Given the description of an element on the screen output the (x, y) to click on. 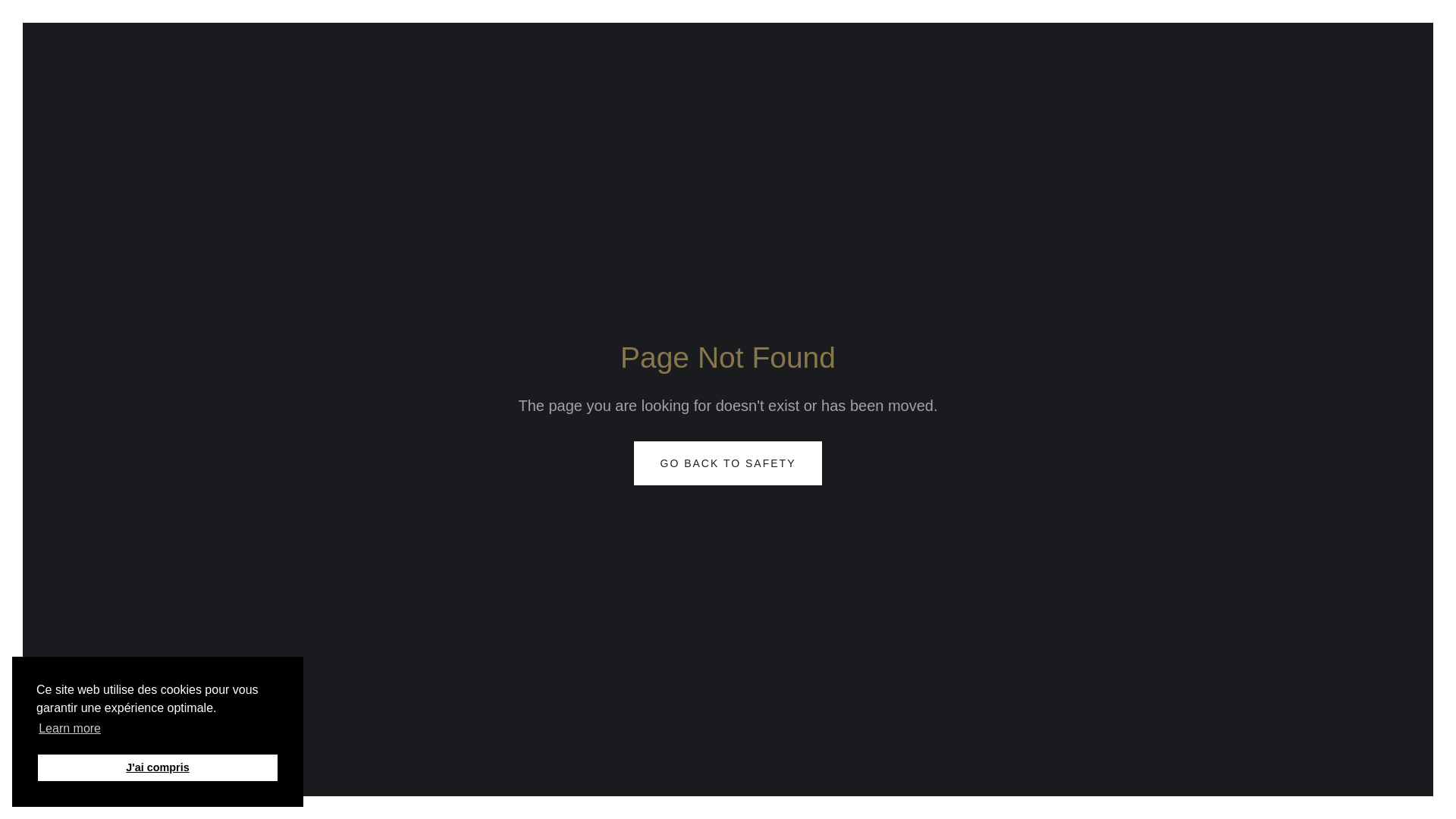
Learn more Element type: text (69, 728)
GO BACK TO SAFETY Element type: text (727, 463)
J'ai compris Element type: text (157, 767)
